Given the description of an element on the screen output the (x, y) to click on. 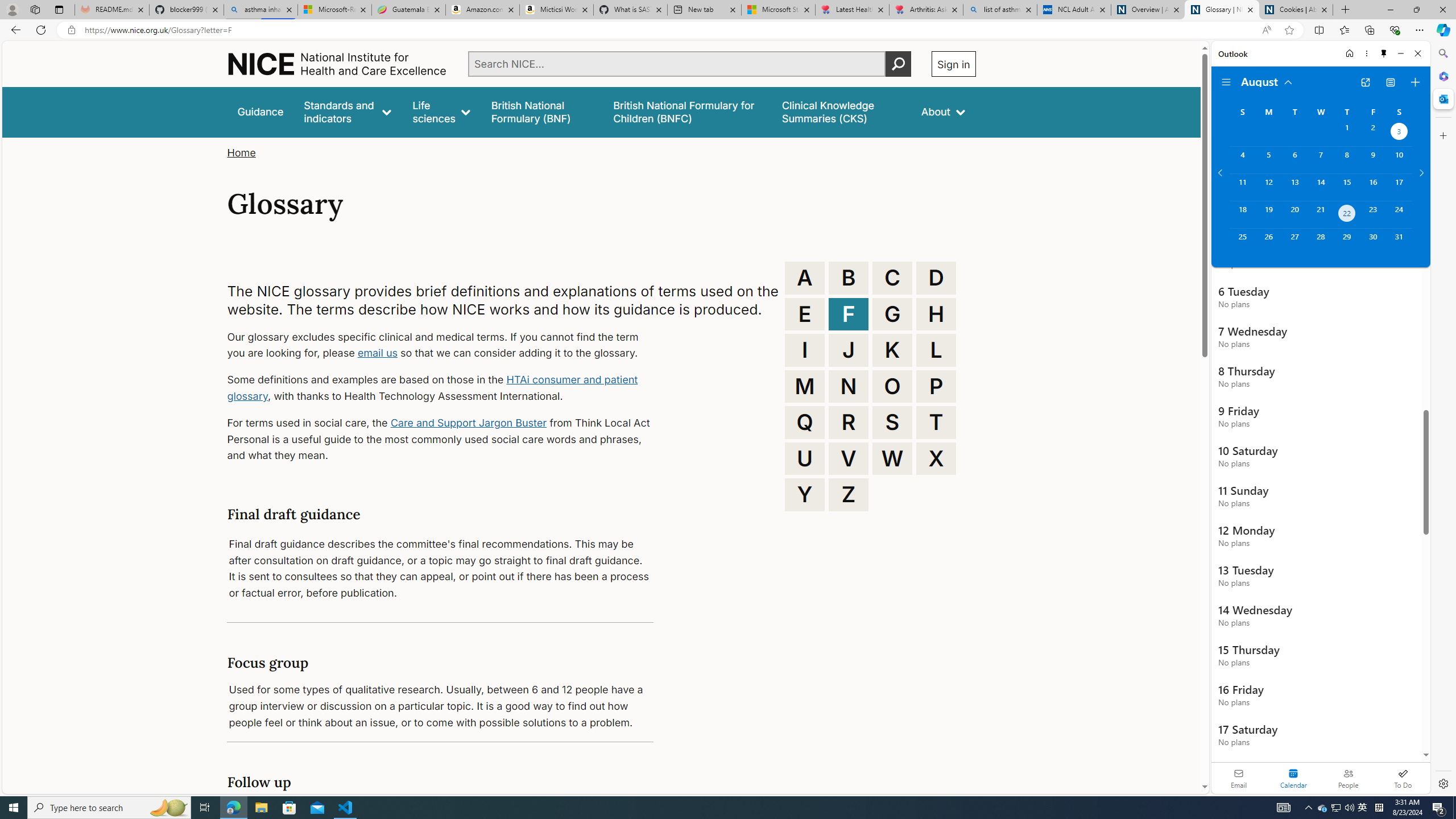
D (935, 277)
Monday, August 26, 2024.  (1268, 241)
E (804, 313)
S (892, 422)
Selected calendar module. Date today is 22 (1293, 777)
H (935, 313)
Email (1238, 777)
L (935, 350)
